Given the description of an element on the screen output the (x, y) to click on. 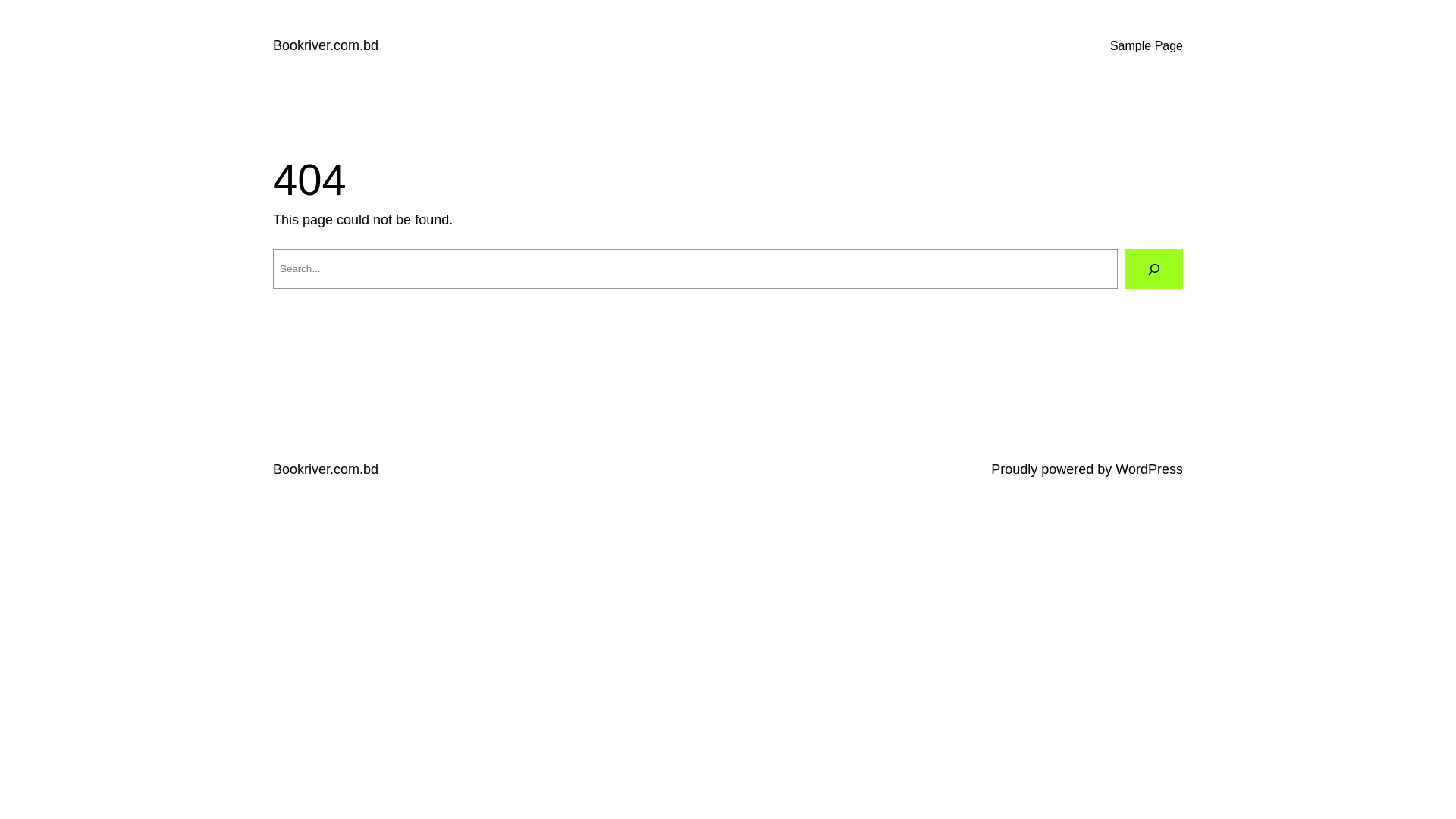
Bookriver.com.bd Element type: text (325, 468)
Bookriver.com.bd Element type: text (325, 45)
Sample Page Element type: text (1146, 46)
WordPress Element type: text (1149, 468)
